Given the description of an element on the screen output the (x, y) to click on. 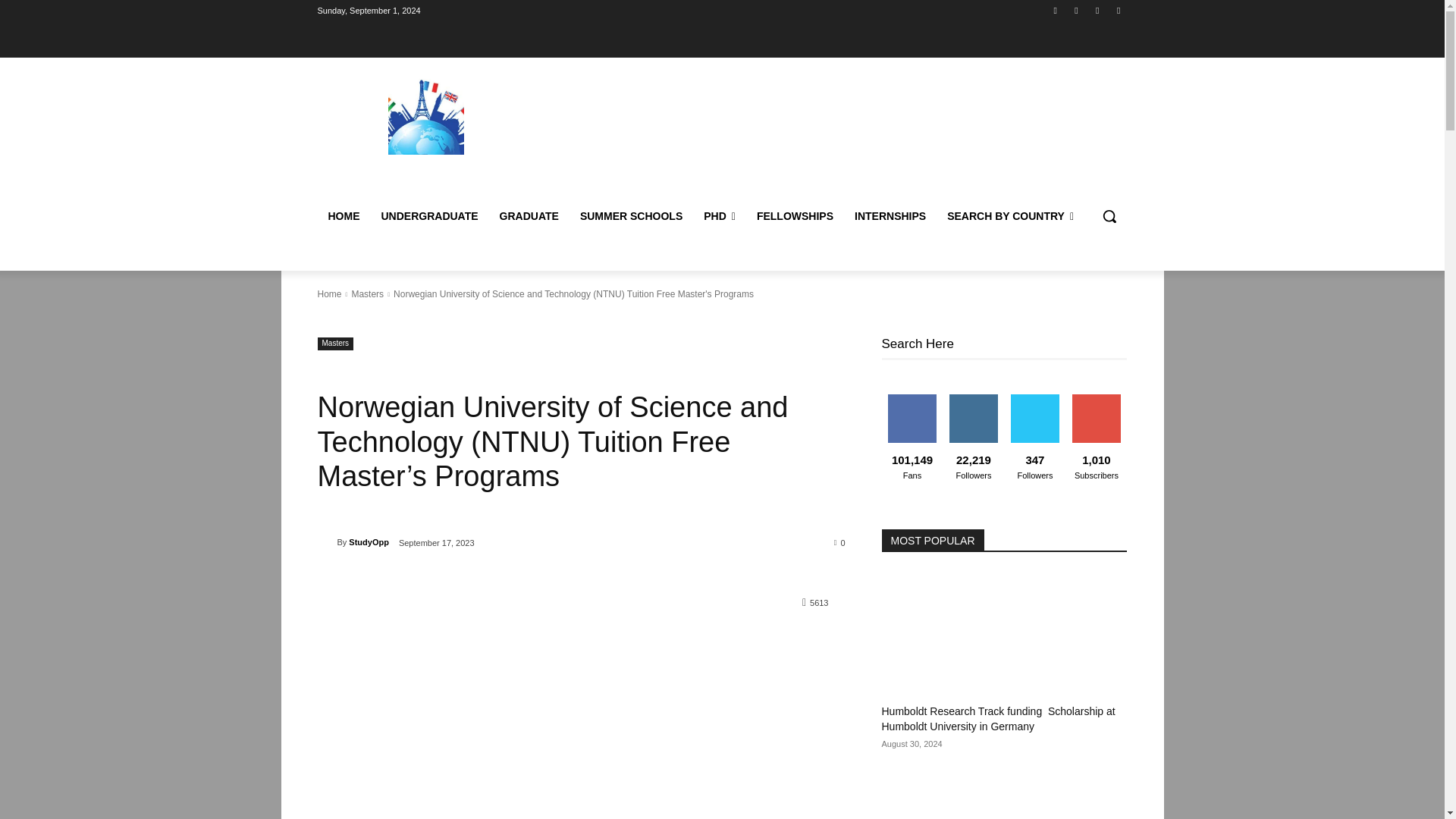
Masters (335, 343)
PHD (719, 216)
View all posts in Masters (367, 294)
Masters (367, 294)
SEARCH BY COUNTRY (1010, 216)
FELLOWSHIPS (794, 216)
Instagram (1075, 9)
GRADUATE (529, 216)
Home (328, 294)
Youtube (1117, 9)
